Given the description of an element on the screen output the (x, y) to click on. 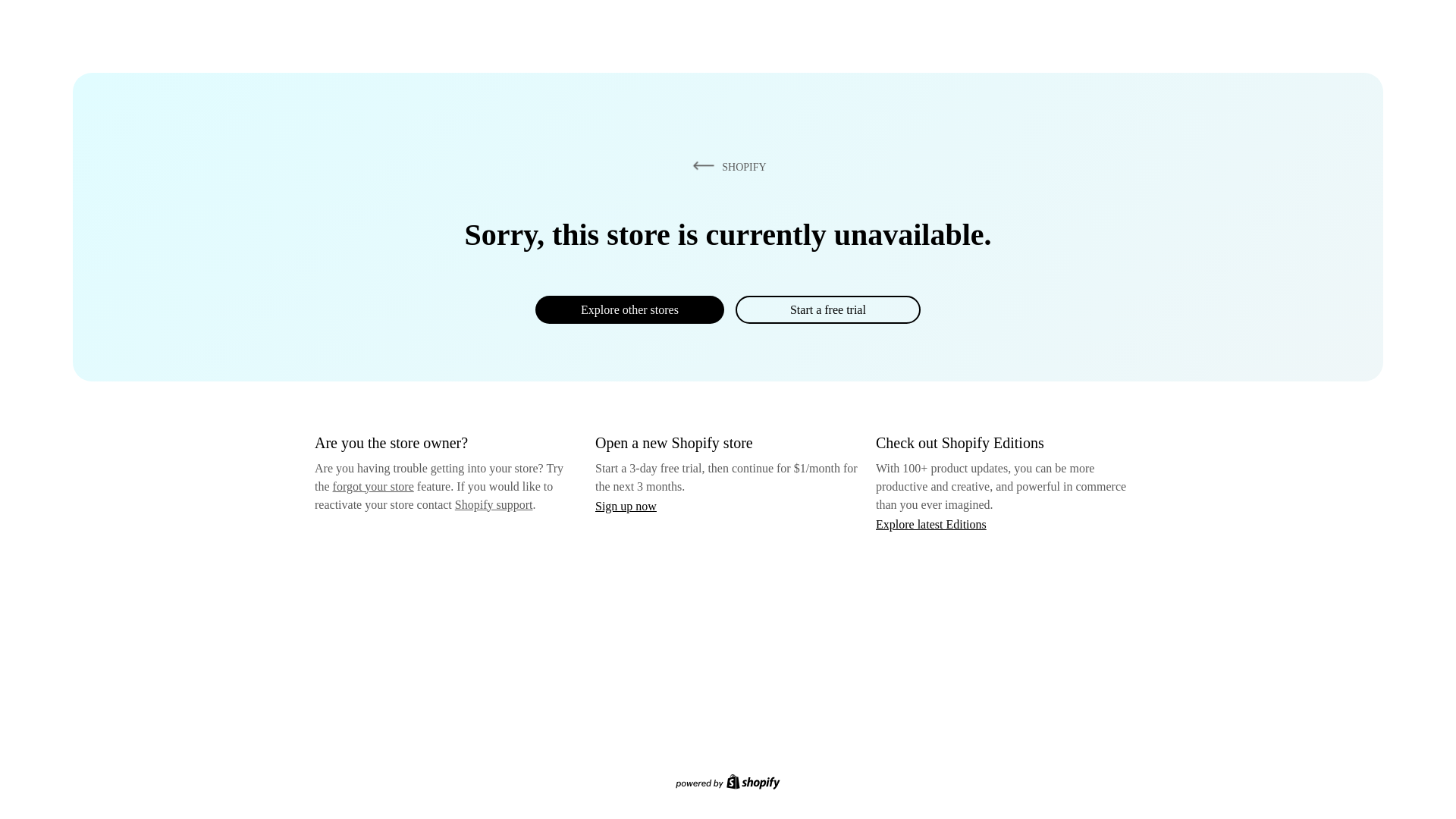
SHOPIFY (726, 166)
Explore other stores (629, 309)
Explore latest Editions (931, 523)
Start a free trial (827, 309)
Shopify support (493, 504)
Sign up now (625, 505)
forgot your store (373, 486)
